Given the description of an element on the screen output the (x, y) to click on. 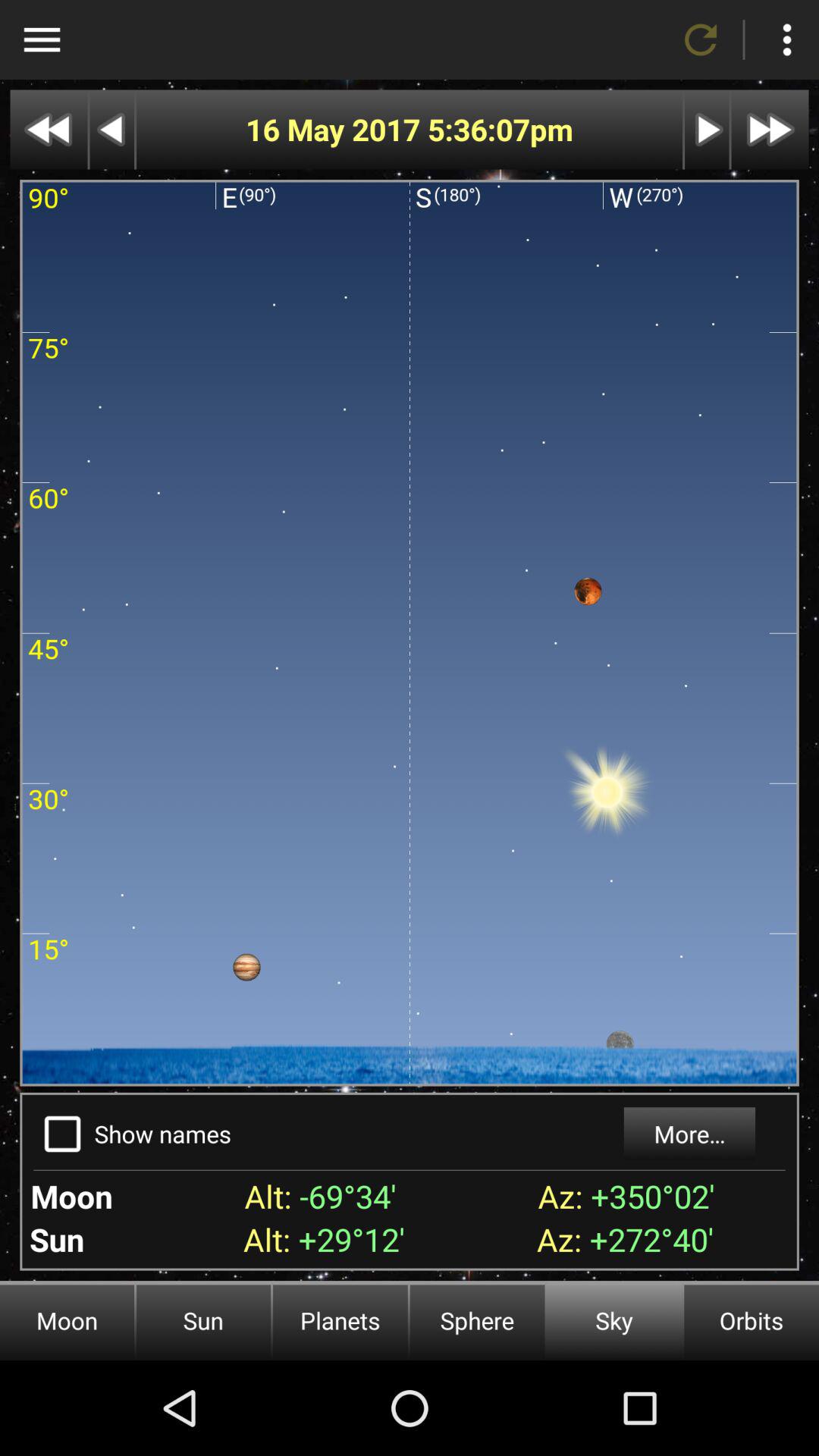
show names (62, 1133)
